Given the description of an element on the screen output the (x, y) to click on. 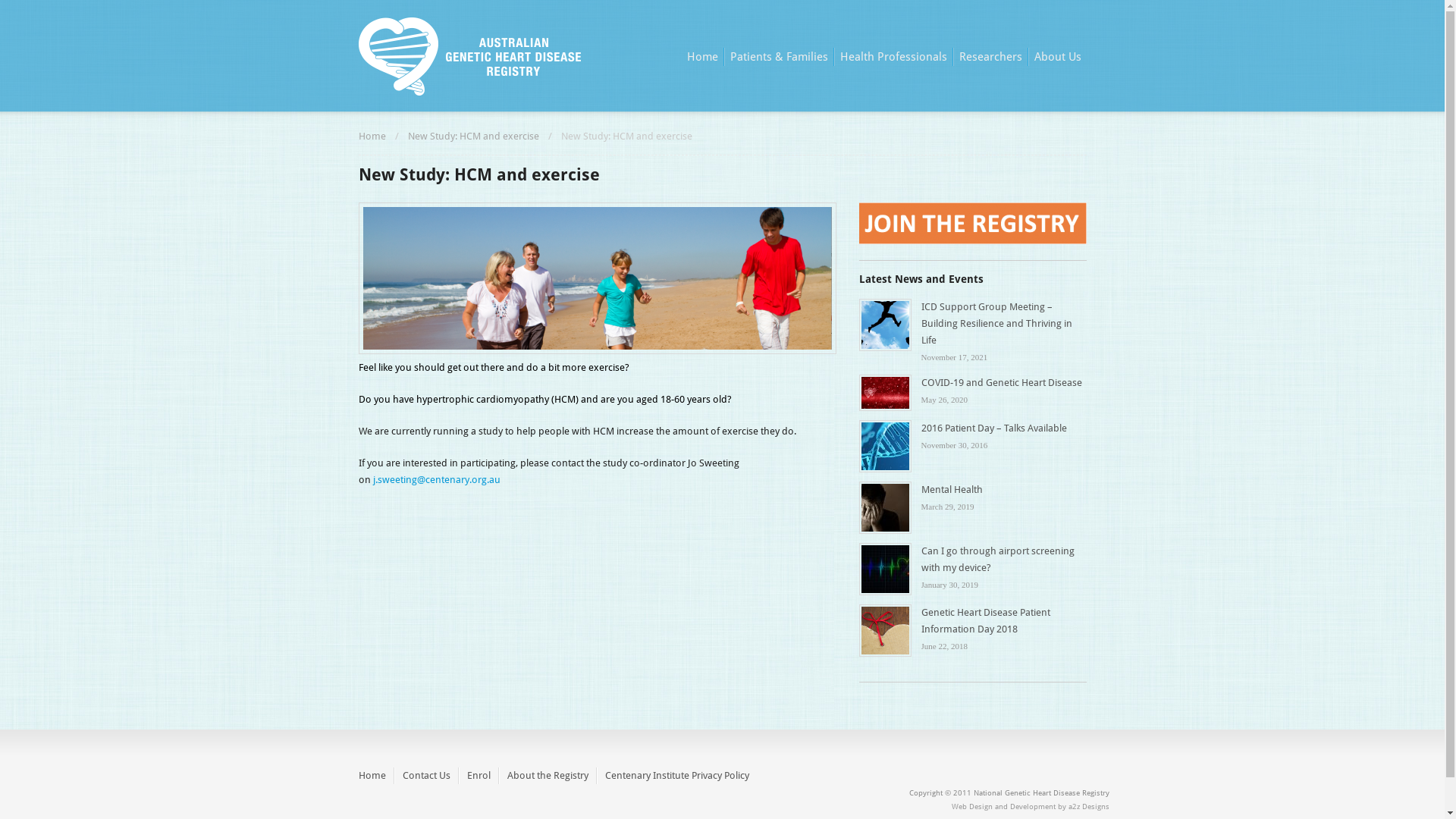
Mental Health Element type: text (951, 489)
Enrol Element type: text (478, 775)
Contact Us Element type: text (425, 775)
Centenary Institute Privacy Policy Element type: text (677, 775)
Home Element type: text (701, 56)
About Us Element type: text (1057, 56)
Genetic Heart Disease Patient Information Day 2018 Element type: text (984, 620)
Web Design and Development by a2z Designs Element type: text (1029, 806)
Home Element type: text (371, 775)
COVID-19 and Genetic Heart Disease Element type: text (1000, 382)
j.sweeting@centenary.org.au Element type: text (436, 479)
New Study: HCM and exercise Element type: text (473, 135)
Home Element type: text (371, 135)
Can I go through airport screening with my device? Element type: text (996, 559)
Patients & Families Element type: text (778, 56)
About the Registry Element type: text (546, 775)
Health Professionals Element type: text (893, 56)
Researchers Element type: text (989, 56)
